Given the description of an element on the screen output the (x, y) to click on. 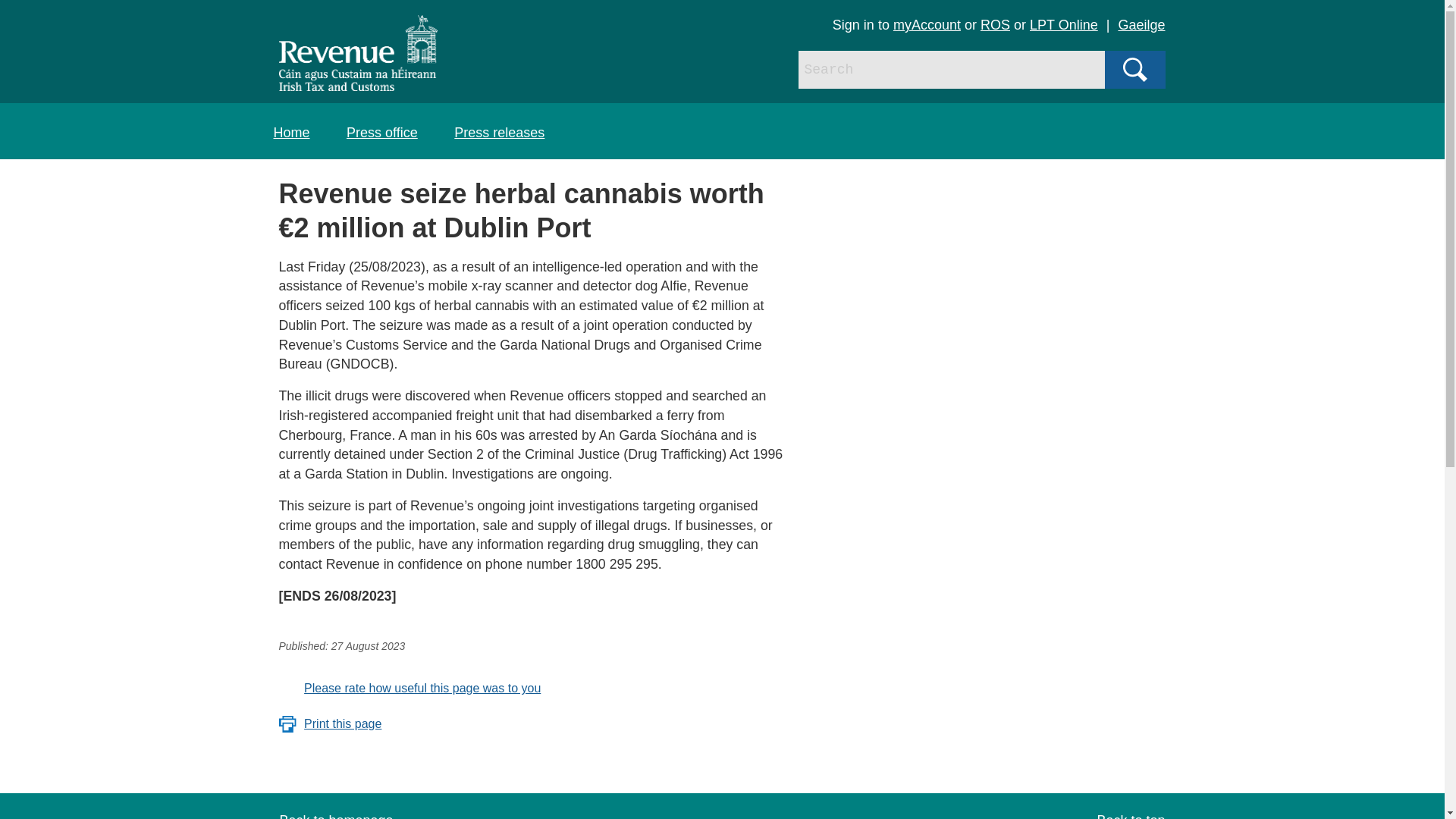
ROS (994, 24)
Go to Home from here (290, 131)
Press office (381, 131)
Press releases (499, 131)
Gaeilge (1141, 24)
Revenue Irish Tax and Customs (358, 52)
Go to Press office from here (381, 131)
Back to homepage (336, 816)
Go to Press releases from here (499, 131)
Home (290, 131)
